Given the description of an element on the screen output the (x, y) to click on. 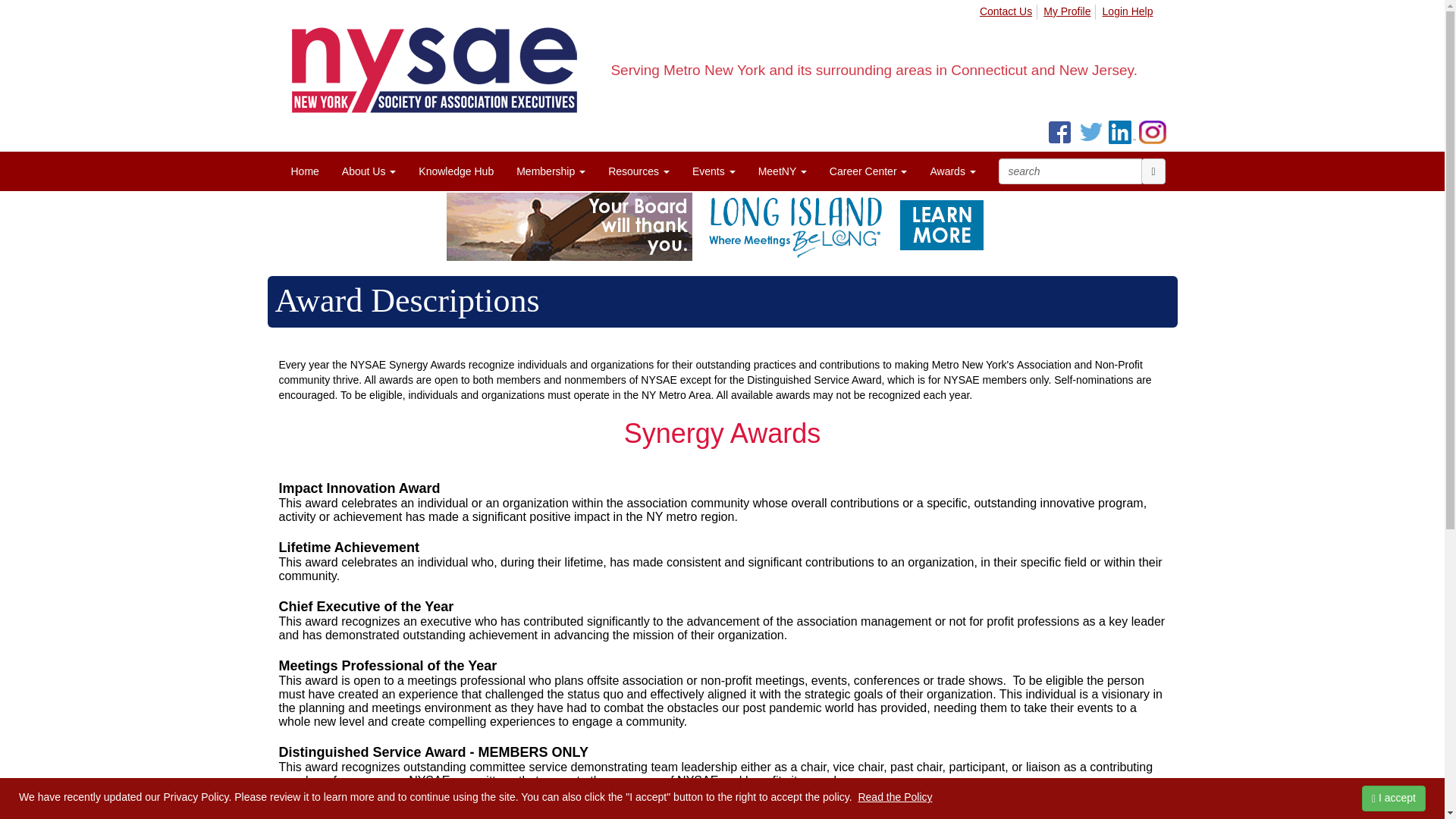
 I accept (1393, 798)
Knowledge Hub (456, 171)
How to get in contact with us (1007, 11)
My Profile (1069, 11)
Contact Us (1007, 11)
Home (304, 171)
Read the Policy (894, 797)
About Us (368, 171)
Resources (638, 171)
Login Help (1128, 11)
search (1069, 171)
Membership (550, 171)
